Given the description of an element on the screen output the (x, y) to click on. 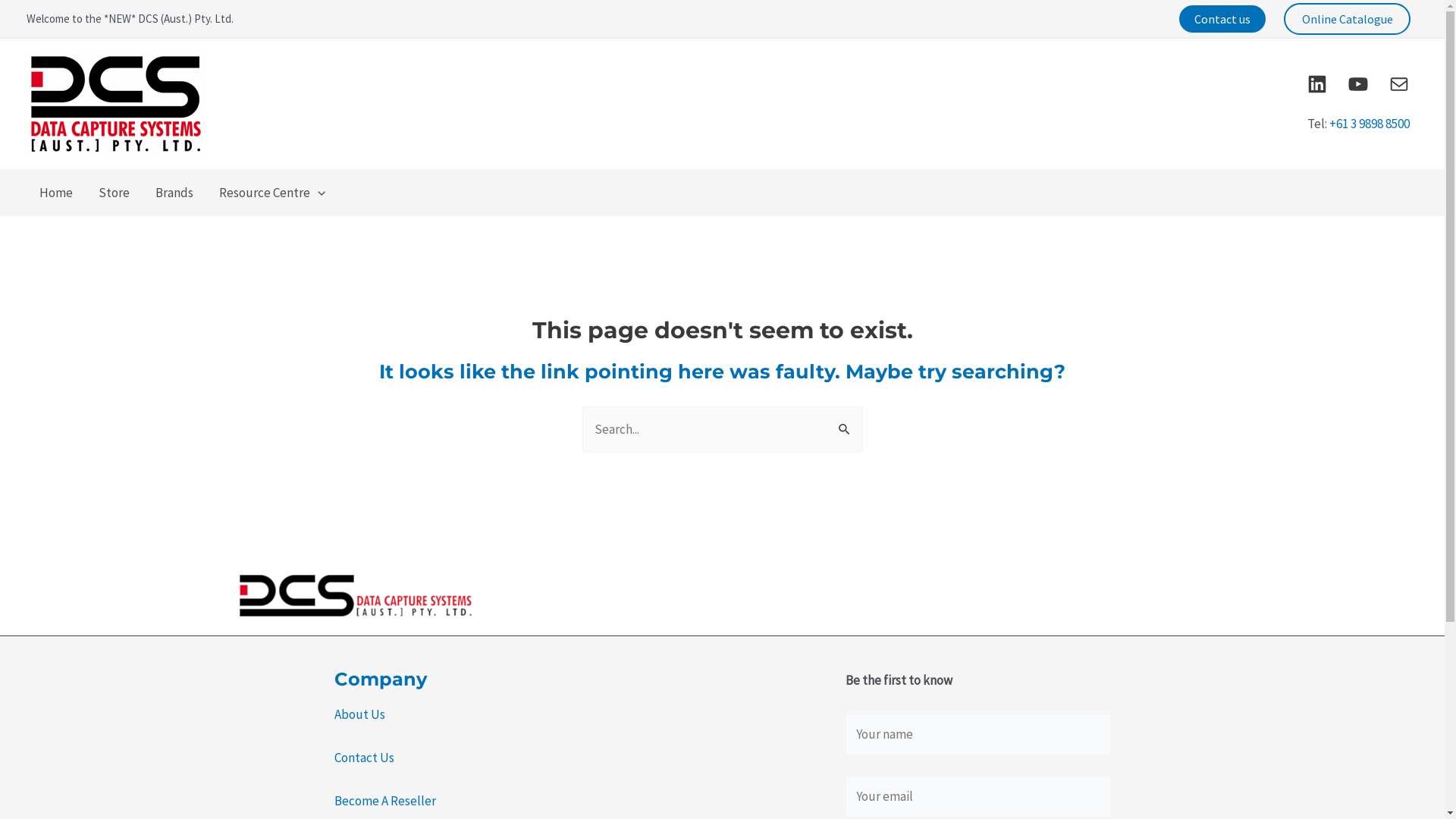
Home Element type: text (55, 192)
Contact Us Element type: text (363, 757)
Become A Reseller Element type: text (384, 800)
Resource Centre Element type: text (272, 192)
LinkedIn Element type: text (1316, 83)
Mail Element type: text (1398, 83)
Store Element type: text (113, 192)
Search Element type: text (845, 422)
Online Catalogue Element type: text (1346, 18)
YouTube Element type: text (1357, 83)
Contact us Element type: text (1222, 18)
About Us Element type: text (358, 714)
Brands Element type: text (174, 192)
+61 3 9898 8500 Element type: text (1368, 123)
